Given the description of an element on the screen output the (x, y) to click on. 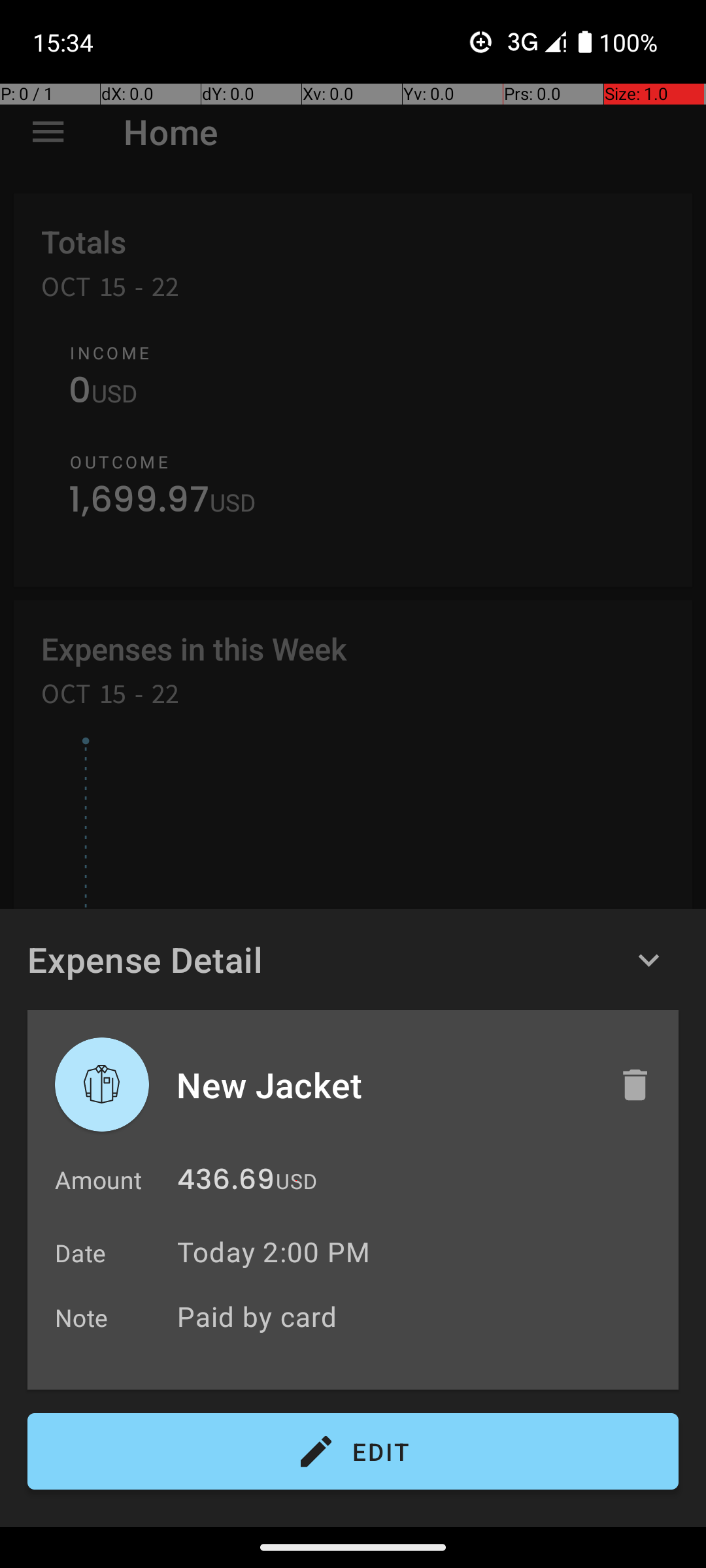
New Jacket Element type: android.widget.TextView (383, 1084)
436.69 Element type: android.widget.TextView (225, 1182)
Today 2:00 PM Element type: android.widget.TextView (273, 1251)
Paid by card Element type: android.widget.TextView (420, 1315)
